Given the description of an element on the screen output the (x, y) to click on. 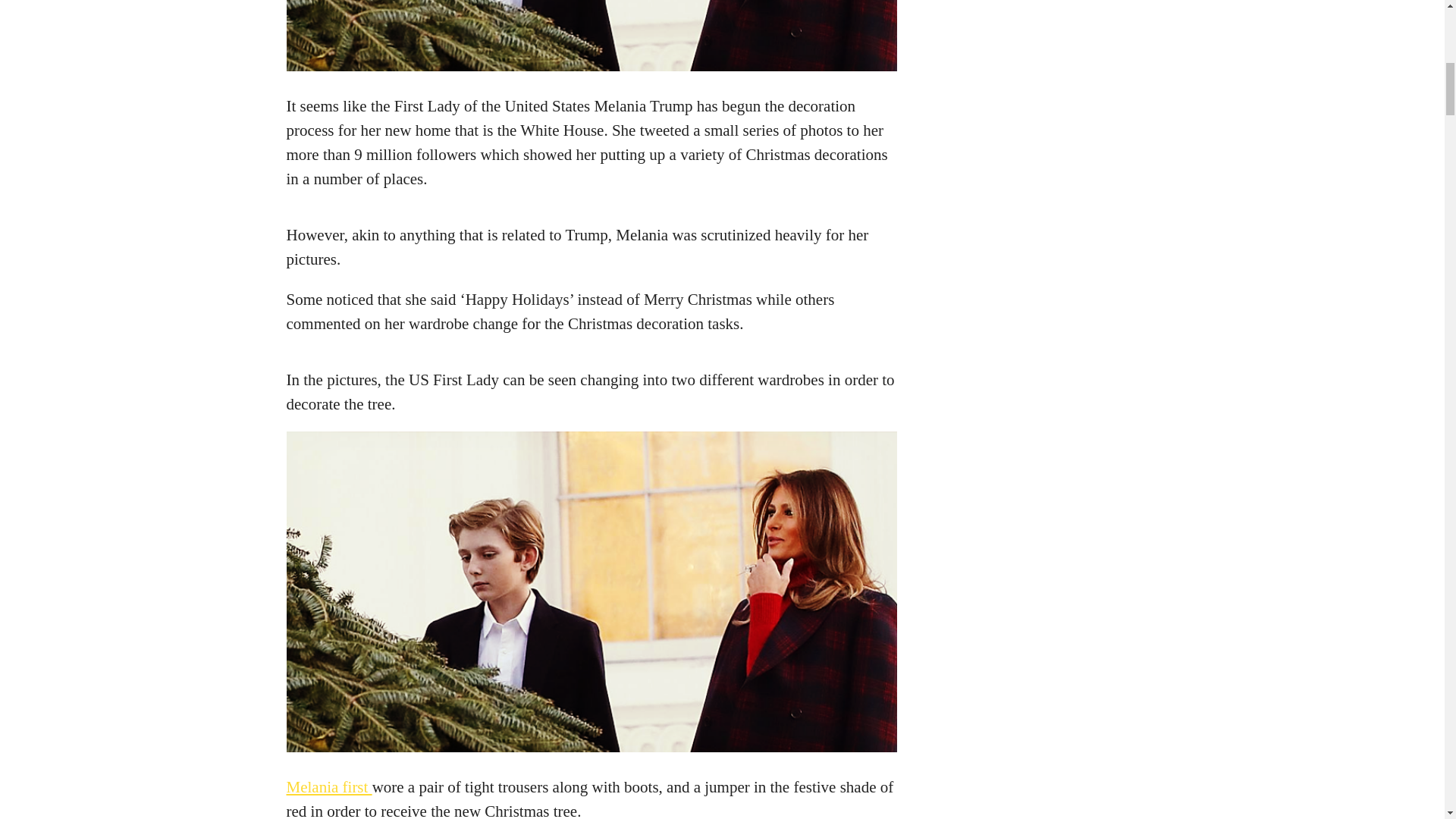
Melania first (329, 787)
